Given the description of an element on the screen output the (x, y) to click on. 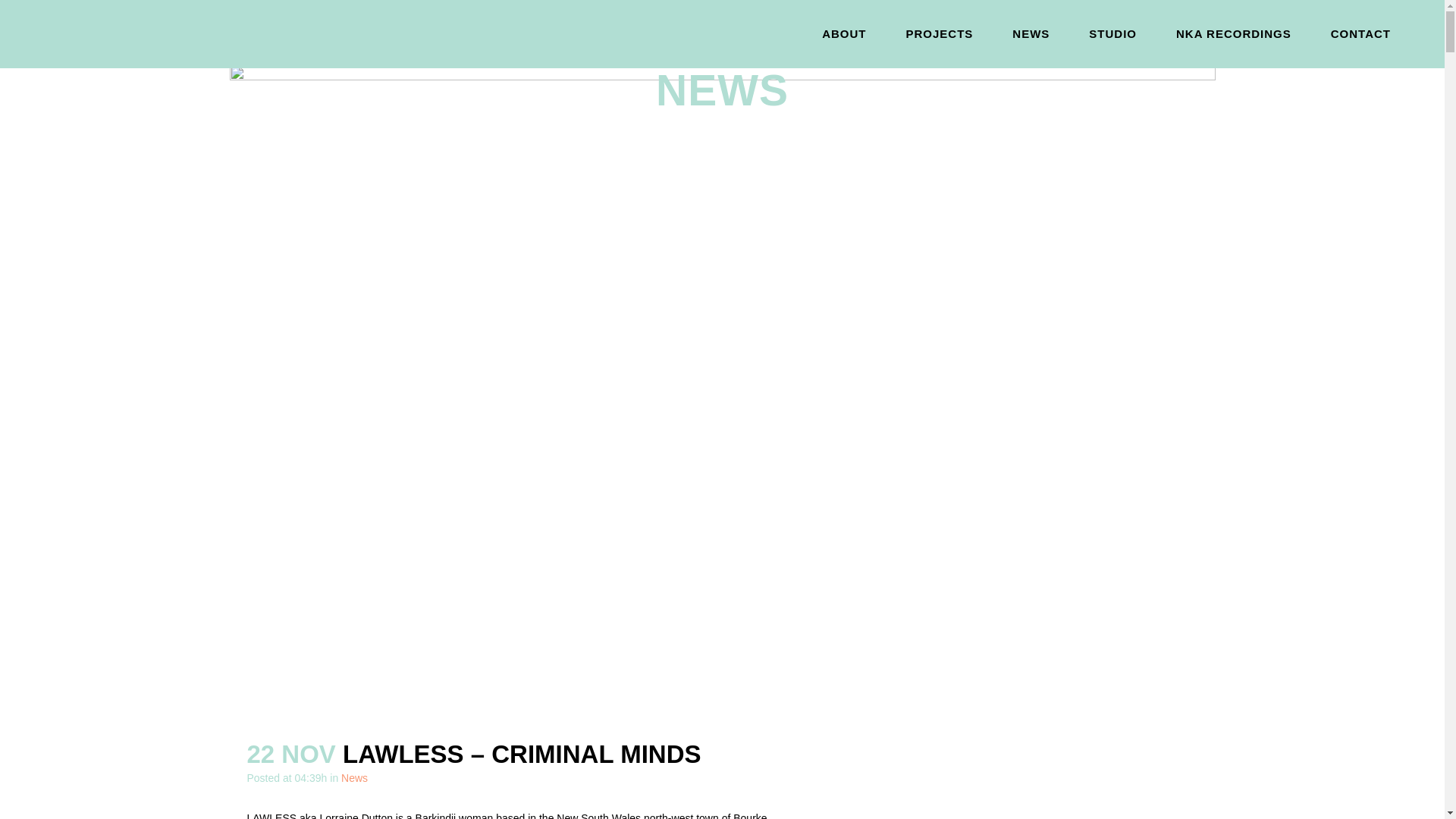
ABOUT (843, 33)
NEWS (1030, 33)
STUDIO (1112, 33)
NKA RECORDINGS (1233, 33)
CONTACT (1360, 33)
PROJECTS (938, 33)
News (354, 777)
